Given the description of an element on the screen output the (x, y) to click on. 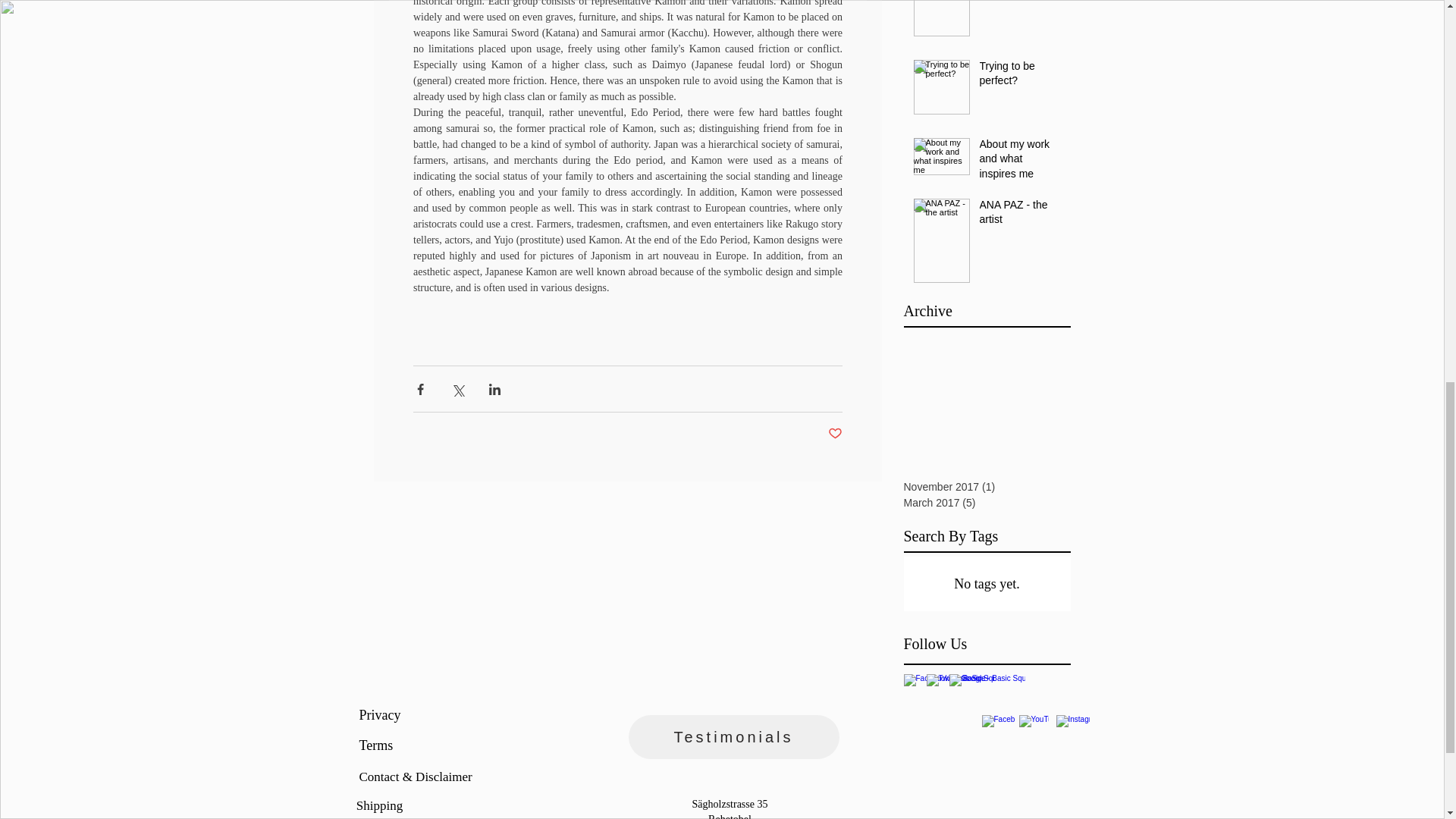
About my work and what inspires me (1020, 162)
Trying to be perfect? (1020, 76)
ANA PAZ - the artist (1020, 215)
Post not marked as liked (835, 433)
